Given the description of an element on the screen output the (x, y) to click on. 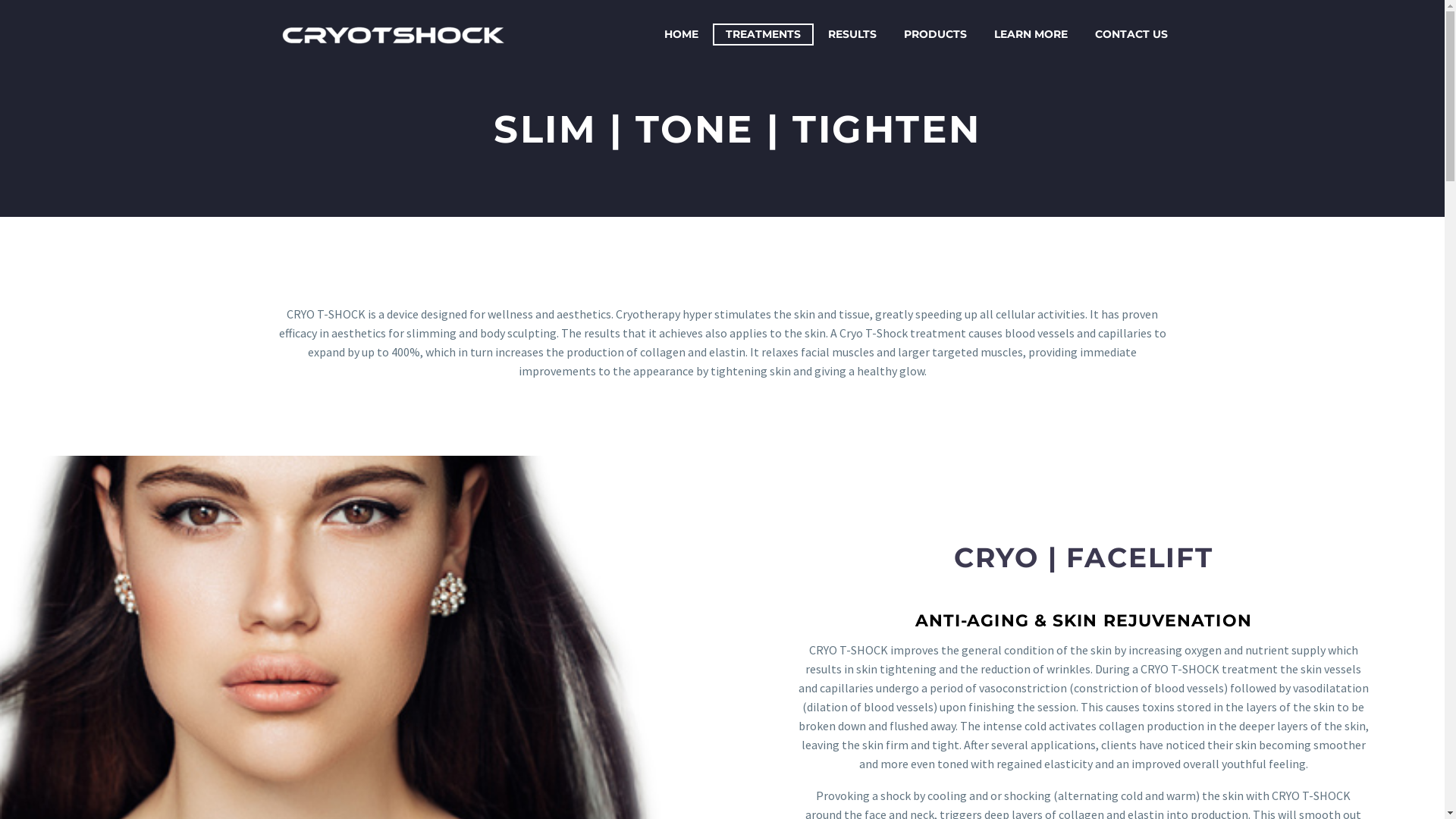
PRODUCTS Element type: text (934, 34)
HOME Element type: text (680, 34)
CONTACT US Element type: text (1130, 34)
RESULTS Element type: text (851, 34)
TREATMENTS Element type: text (762, 34)
LEARN MORE Element type: text (1030, 34)
